Given the description of an element on the screen output the (x, y) to click on. 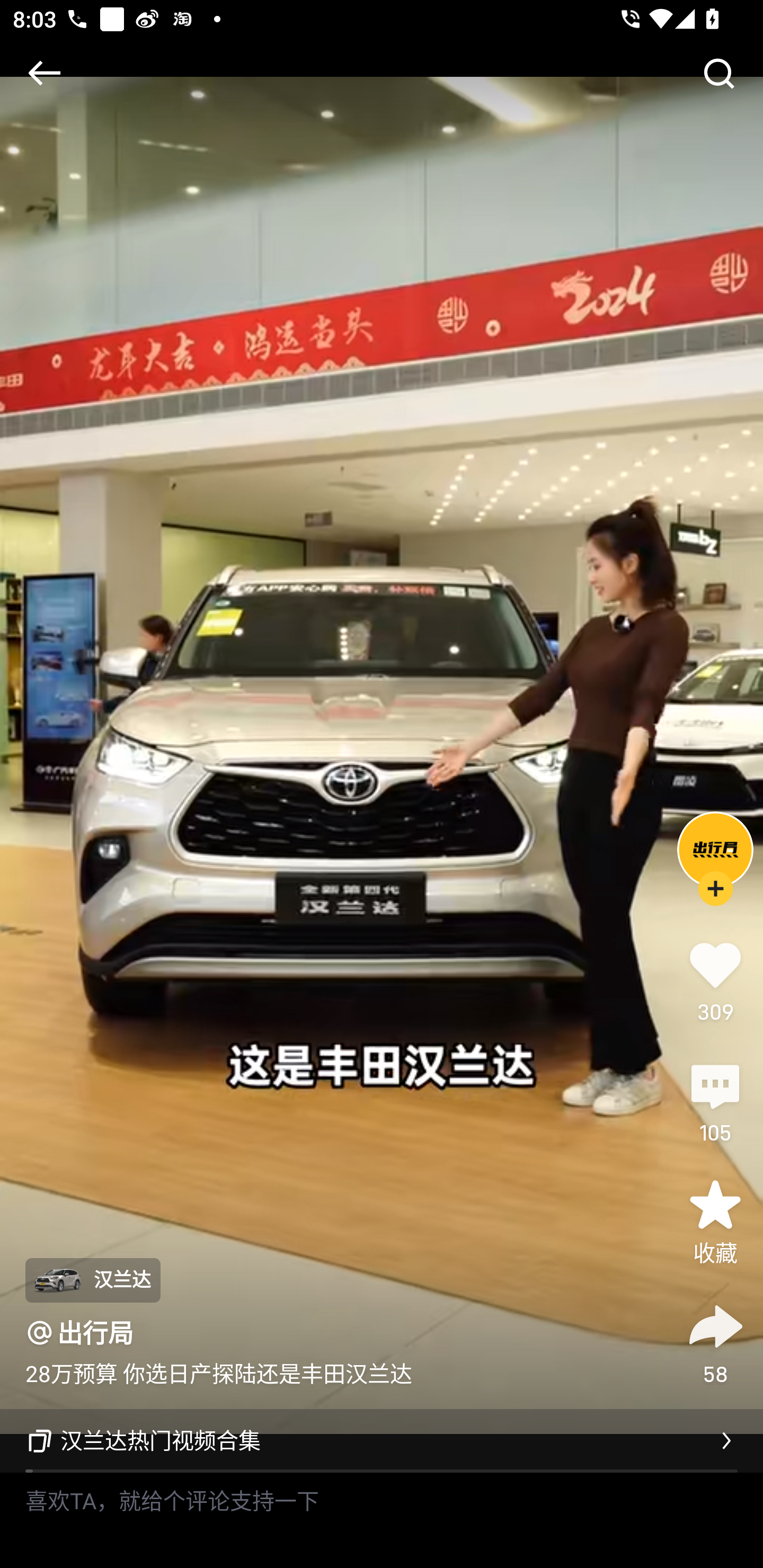
 (44, 72)
 (718, 72)
105 (715, 1100)
收藏 (715, 1221)
汉兰达 (92, 1280)
58 (715, 1342)
出行局 (95, 1332)
28万预算 你选日产探陆还是丰田汉兰达 (218, 1373)
汉兰达热门视频合集 (381, 1440)
喜欢TA，就给个评论支持一下 (381, 1520)
